Given the description of an element on the screen output the (x, y) to click on. 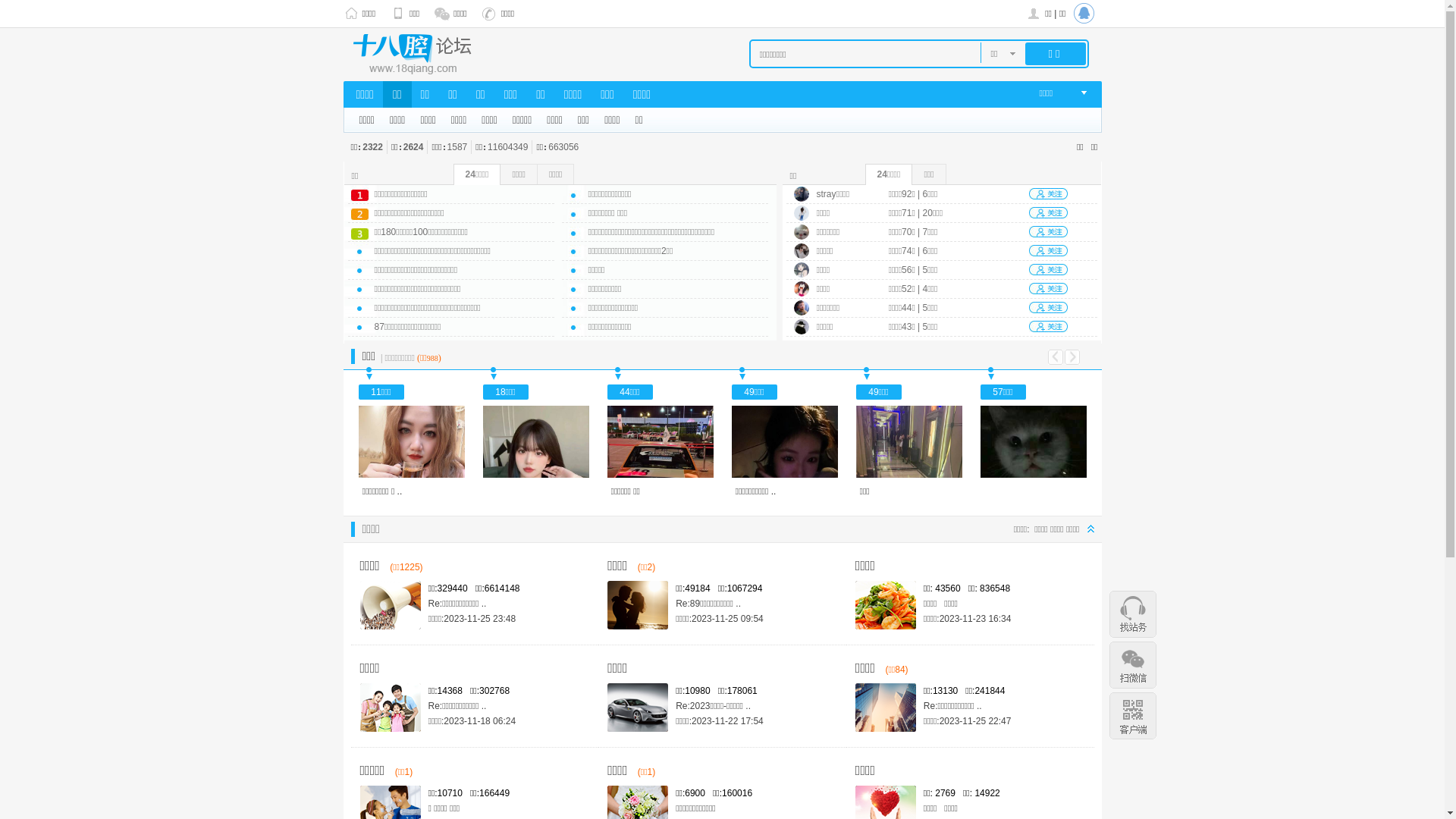
QQ Element type: hover (1085, 13)
2322 Element type: text (372, 146)
663056 Element type: text (563, 146)
  Element type: text (1085, 13)
